Given the description of an element on the screen output the (x, y) to click on. 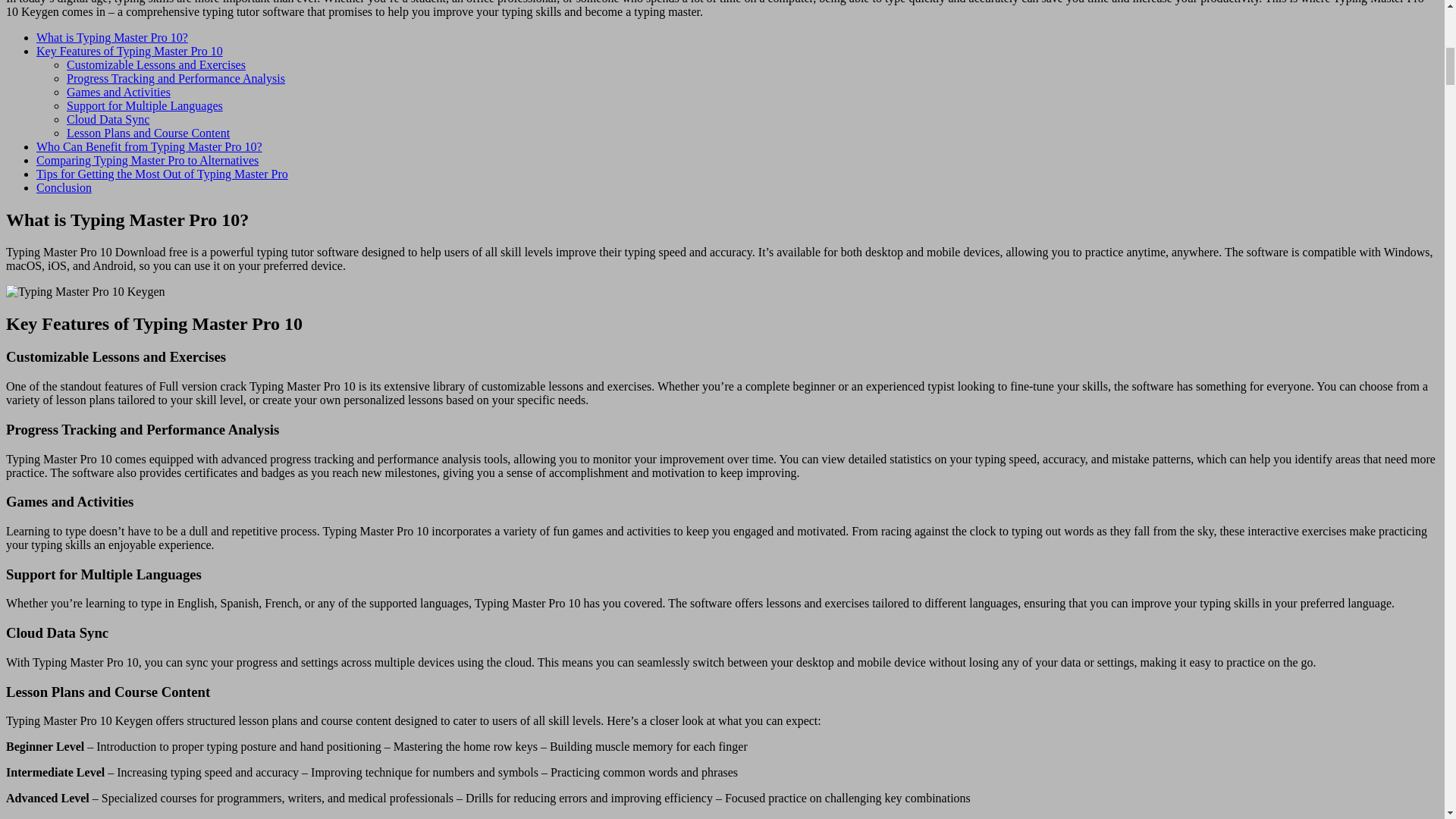
Games and Activities (118, 91)
Support for Multiple Languages (144, 105)
Lesson Plans and Course Content (148, 132)
Comparing Typing Master Pro to Alternatives (147, 160)
Customizable Lessons and Exercises (156, 64)
Conclusion (63, 187)
Tips for Getting the Most Out of Typing Master Pro (162, 173)
What is Typing Master Pro 10? (111, 37)
Cloud Data Sync (107, 119)
Progress Tracking and Performance Analysis (175, 78)
Who Can Benefit from Typing Master Pro 10? (149, 146)
Key Features of Typing Master Pro 10 (129, 51)
